Given the description of an element on the screen output the (x, y) to click on. 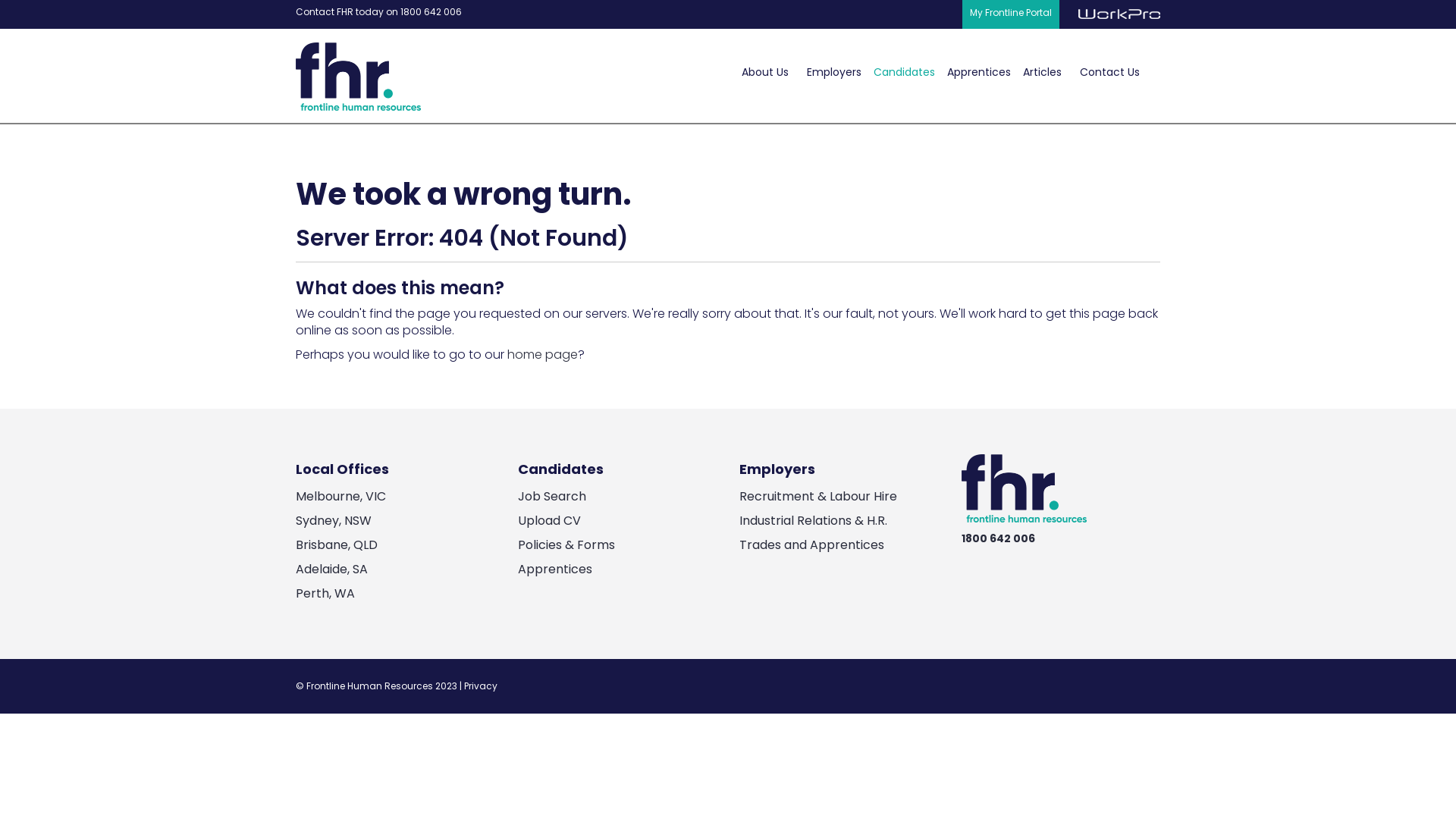
home page Element type: text (542, 354)
Policies & Forms Element type: text (565, 544)
Recruitment & Labour Hire Element type: text (818, 496)
Employers Element type: text (833, 75)
1800 642 006 Element type: text (998, 538)
Upload CV Element type: text (548, 520)
Apprentices Element type: text (554, 568)
Articles Element type: text (1041, 75)
Trades and Apprentices Element type: text (811, 544)
Sydney, NSW Element type: text (333, 520)
About Us Element type: text (764, 75)
Contact Us Element type: text (1109, 75)
Job Search Element type: text (551, 496)
Industrial Relations & H.R. Element type: text (813, 520)
My Frontline Portal Element type: text (1010, 14)
Adelaide, SA Element type: text (331, 568)
Apprentices Element type: text (978, 75)
Melbourne, VIC Element type: text (340, 496)
Perth, WA Element type: text (324, 593)
Privacy Element type: text (480, 685)
Brisbane, QLD Element type: text (336, 544)
Candidates Element type: text (904, 75)
